Given the description of an element on the screen output the (x, y) to click on. 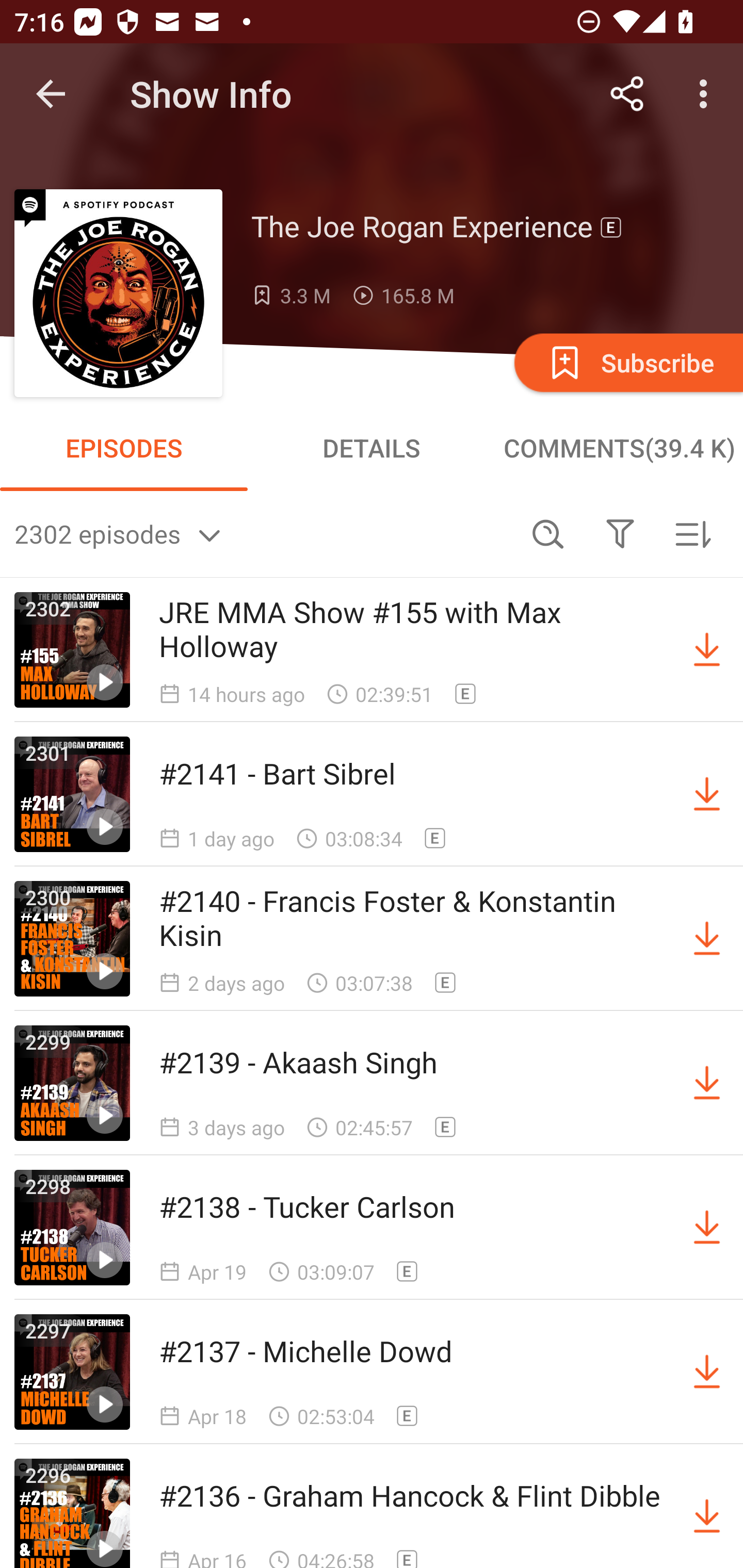
Navigate up (50, 93)
Share (626, 93)
More options (706, 93)
Subscribe (627, 361)
EPISODES (123, 447)
DETAILS (371, 447)
COMMENTS(39.4 K) (619, 447)
2302 episodes  (262, 533)
 Search (547, 533)
 (619, 533)
 Sorted by newest first (692, 533)
Download (706, 649)
Download (706, 793)
Download (706, 939)
Download (706, 1083)
Download (706, 1227)
Download (706, 1371)
Download (706, 1513)
